Given the description of an element on the screen output the (x, y) to click on. 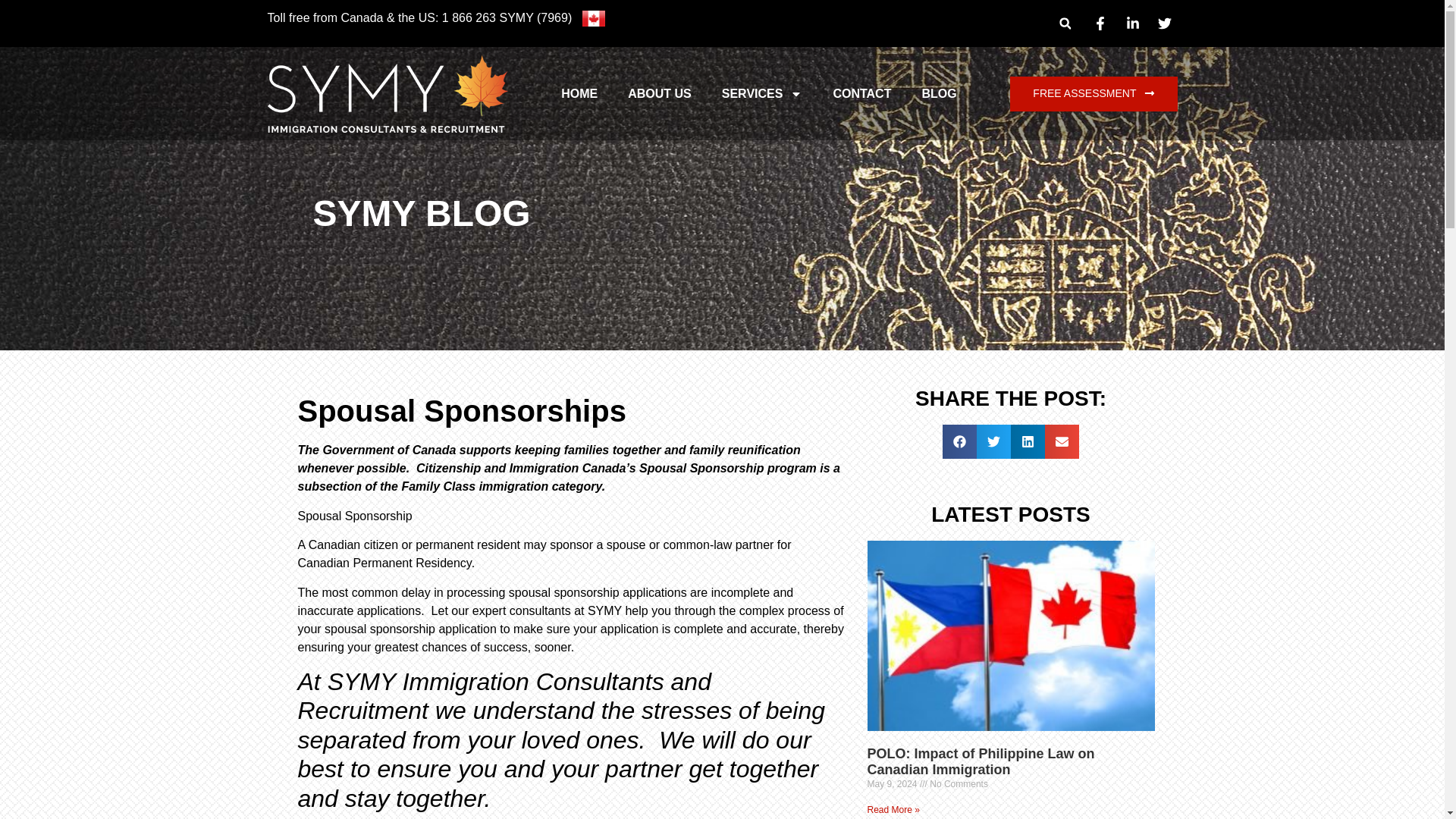
HOME (579, 93)
CONTACT (860, 93)
SERVICES (762, 93)
FREE ASSESSMENT (1093, 93)
BLOG (938, 93)
ABOUT US (659, 93)
